Given the description of an element on the screen output the (x, y) to click on. 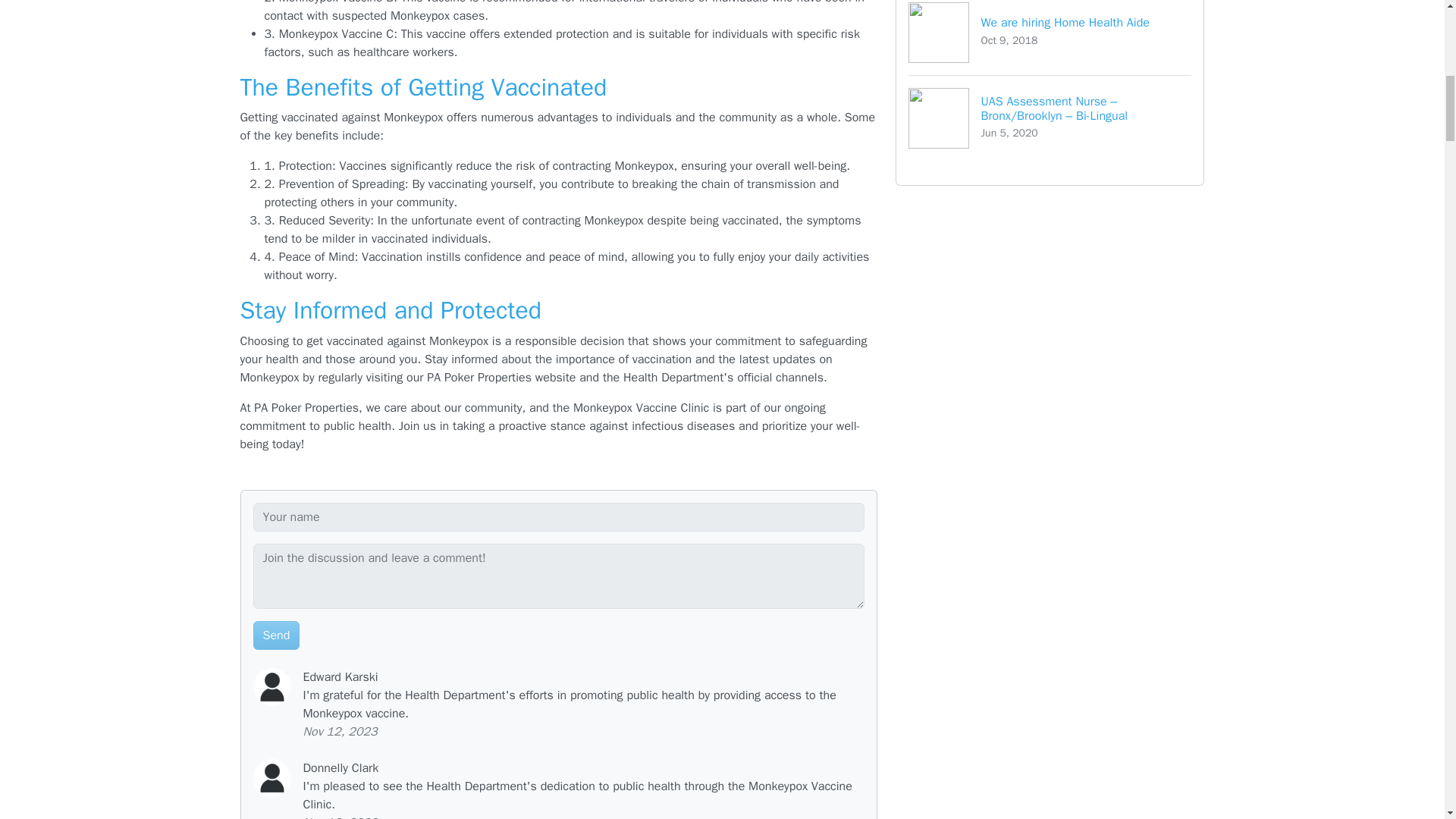
Send (276, 635)
Send (1050, 37)
